Given the description of an element on the screen output the (x, y) to click on. 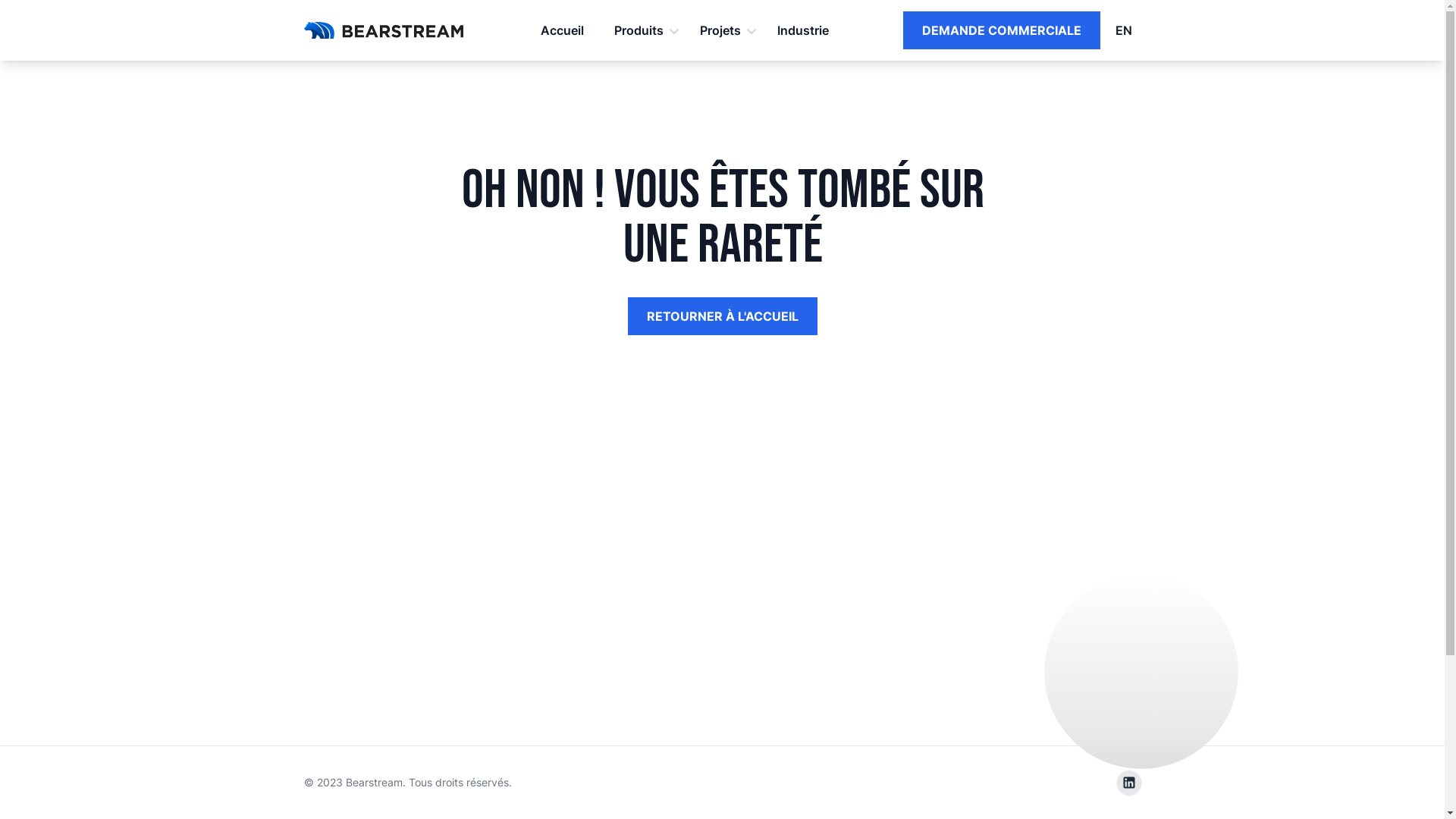
Projets Element type: text (722, 30)
DEMANDE COMMERCIALE Element type: text (1000, 30)
Accueil Element type: text (561, 30)
Industrie Element type: text (802, 30)
EN Element type: text (1119, 30)
Produits Element type: text (641, 30)
